Given the description of an element on the screen output the (x, y) to click on. 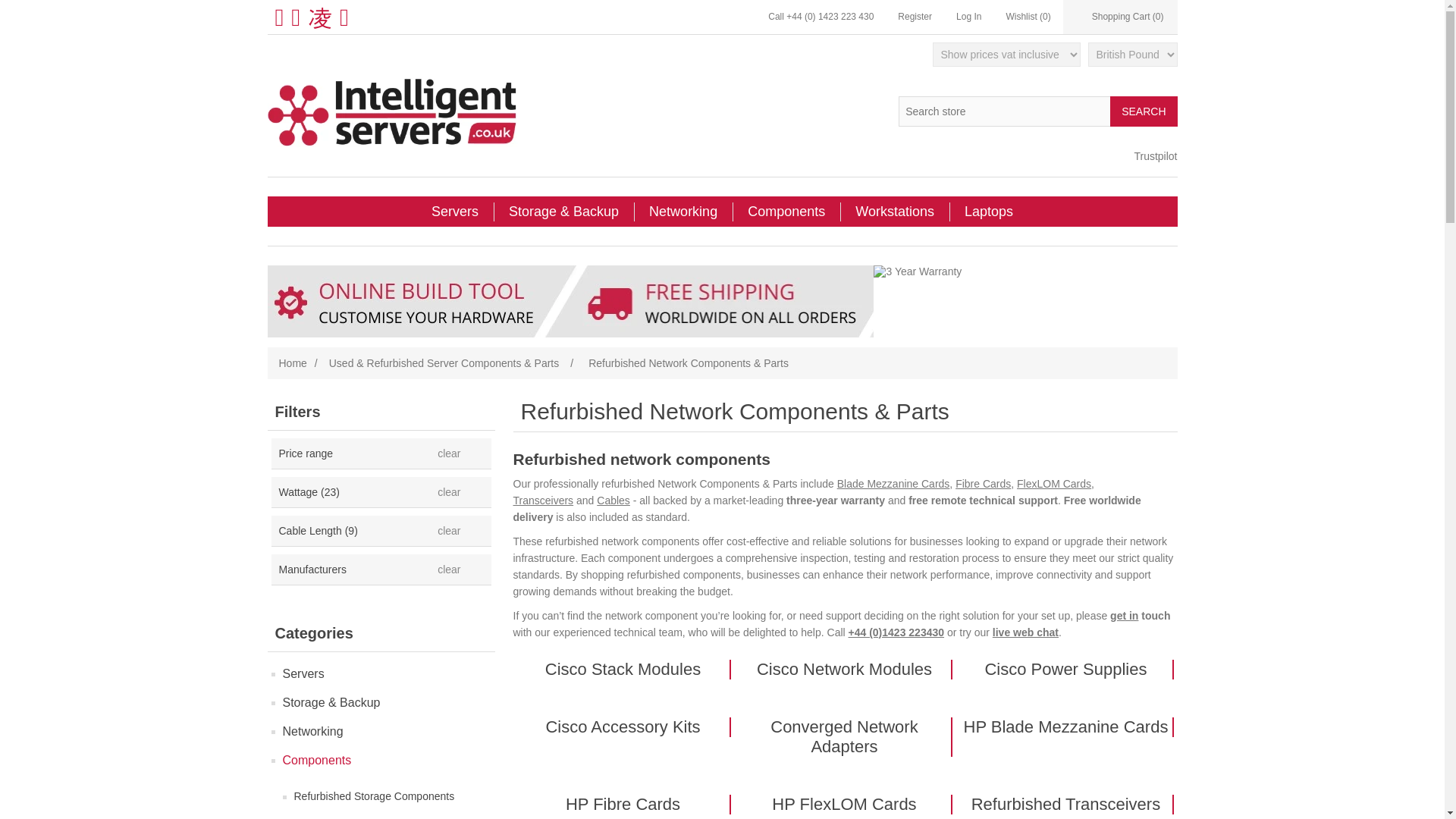
Show products in category Cisco Accessory Kits (623, 727)
Show products in category Cisco Stack Modules (623, 669)
Show products in category Cisco Network Modules (845, 669)
Register (914, 17)
Trustpilot (1155, 155)
SEARCH (1142, 110)
Servers (454, 211)
Home (293, 363)
Show products in category Converged Network Adapters (845, 736)
Show products in category Cisco Power Supplies (1066, 669)
